Given the description of an element on the screen output the (x, y) to click on. 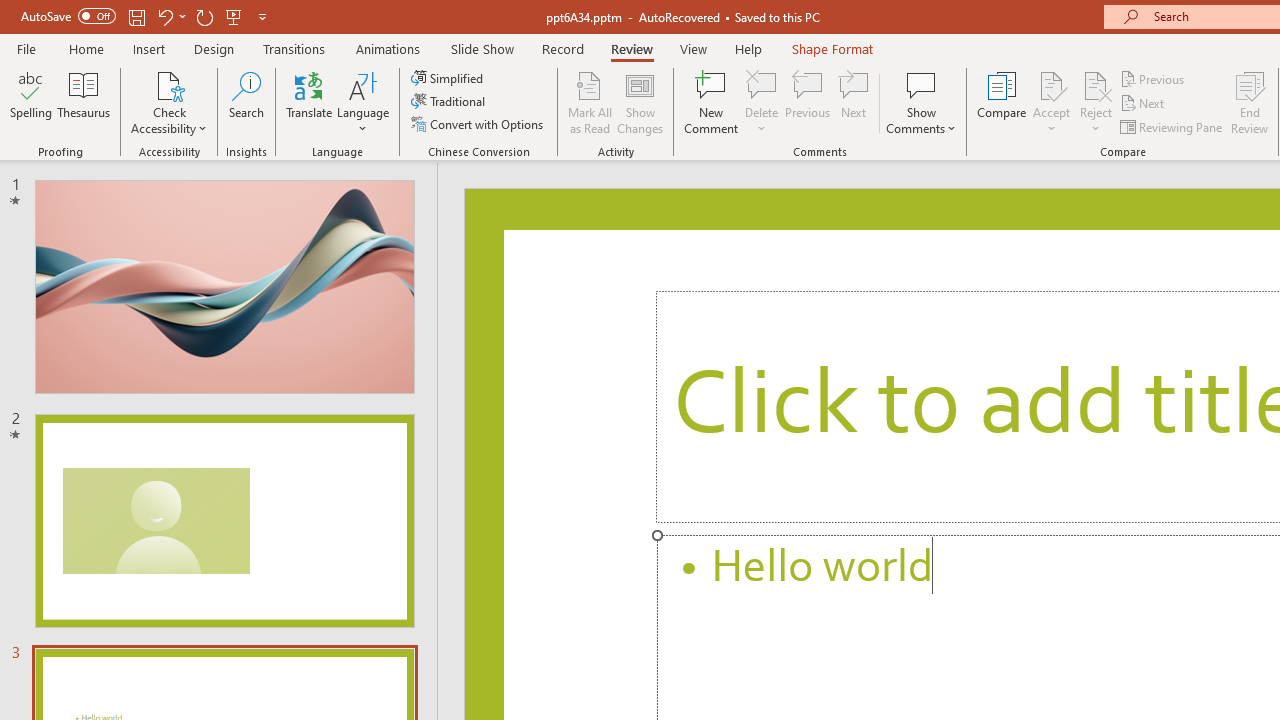
Check Accessibility (169, 102)
Convert with Options... (479, 124)
Previous (1153, 78)
Show Comments (921, 84)
Spelling... (31, 102)
Reject Change (1096, 84)
Help (748, 48)
New Comment (711, 102)
AutoSave (68, 16)
Delete (762, 84)
Traditional (449, 101)
Redo (204, 15)
Check Accessibility (169, 84)
Insert (149, 48)
